Given the description of an element on the screen output the (x, y) to click on. 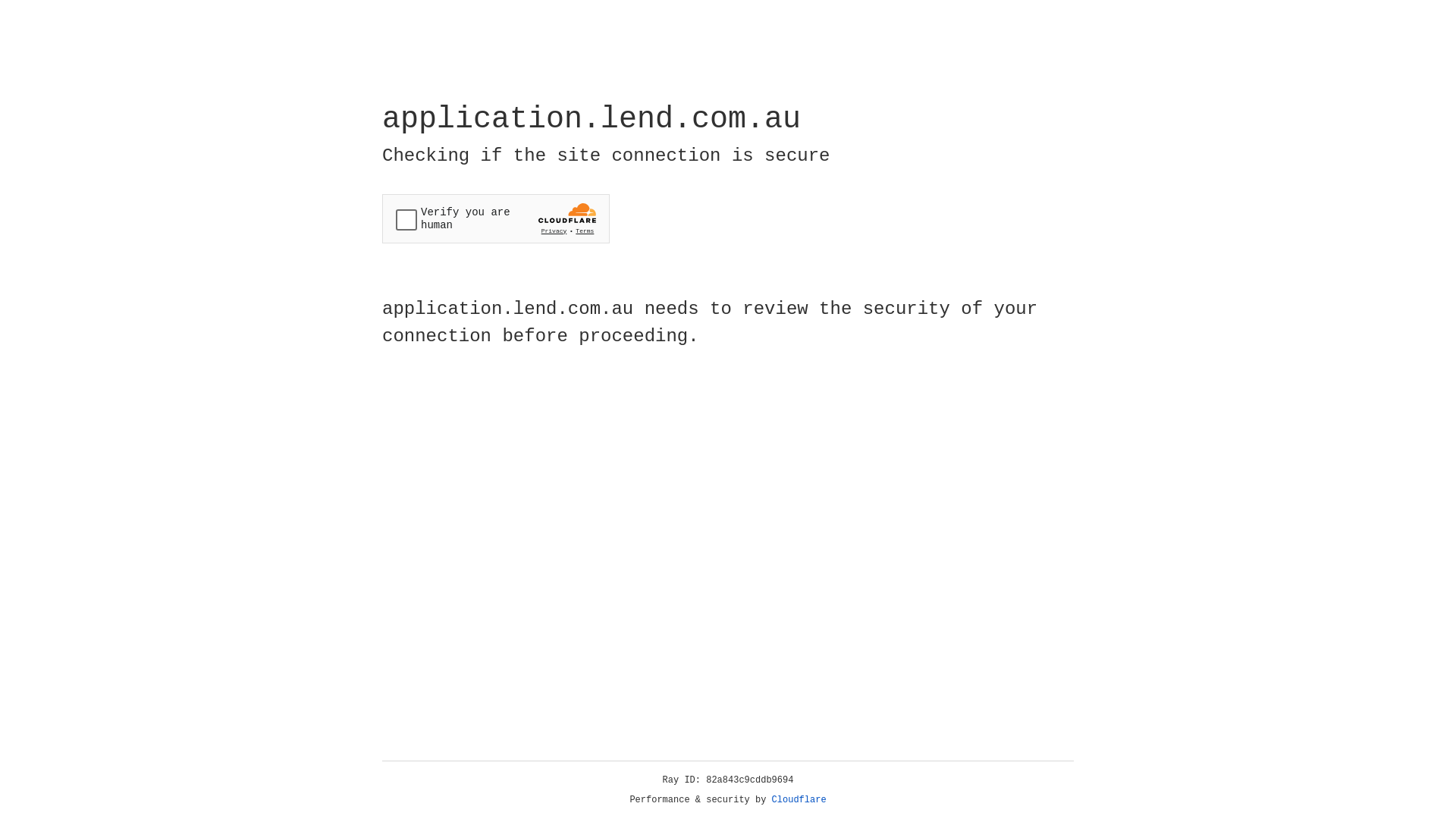
Cloudflare Element type: text (798, 799)
Widget containing a Cloudflare security challenge Element type: hover (495, 218)
